Given the description of an element on the screen output the (x, y) to click on. 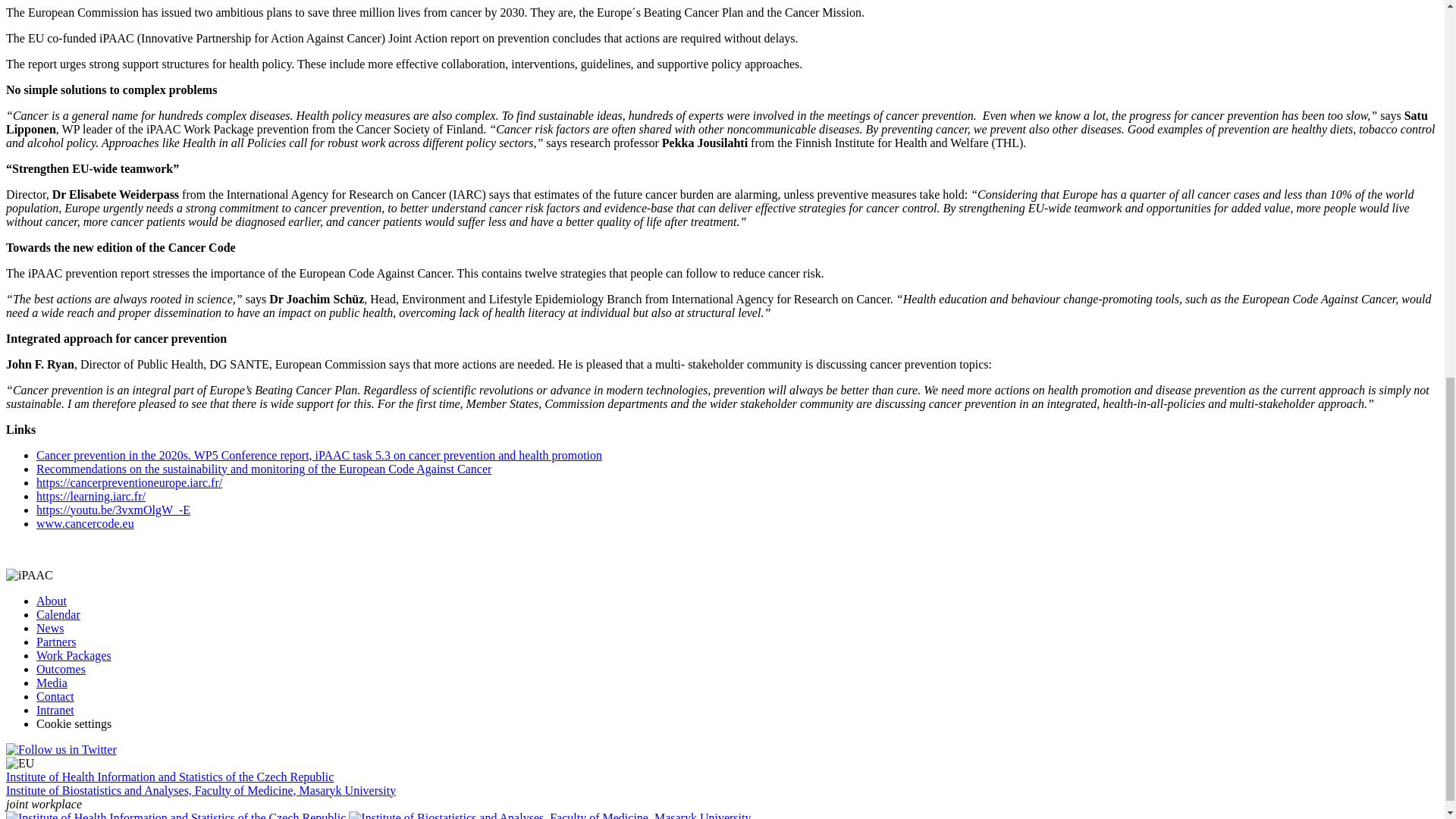
About (51, 600)
News (50, 627)
Cookie settings (74, 723)
Intranet (55, 709)
Calendar (58, 614)
Contact (55, 696)
Outcomes (60, 668)
Partners (55, 641)
Work Packages (74, 655)
Media (51, 682)
www.cancercode.eu (84, 522)
